Given the description of an element on the screen output the (x, y) to click on. 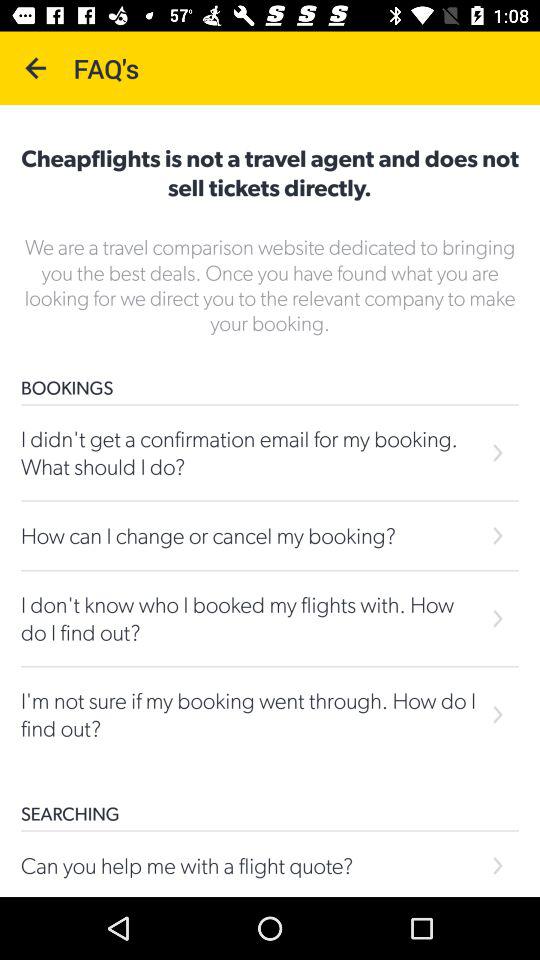
select icon to the left of the faq's item (36, 68)
